Given the description of an element on the screen output the (x, y) to click on. 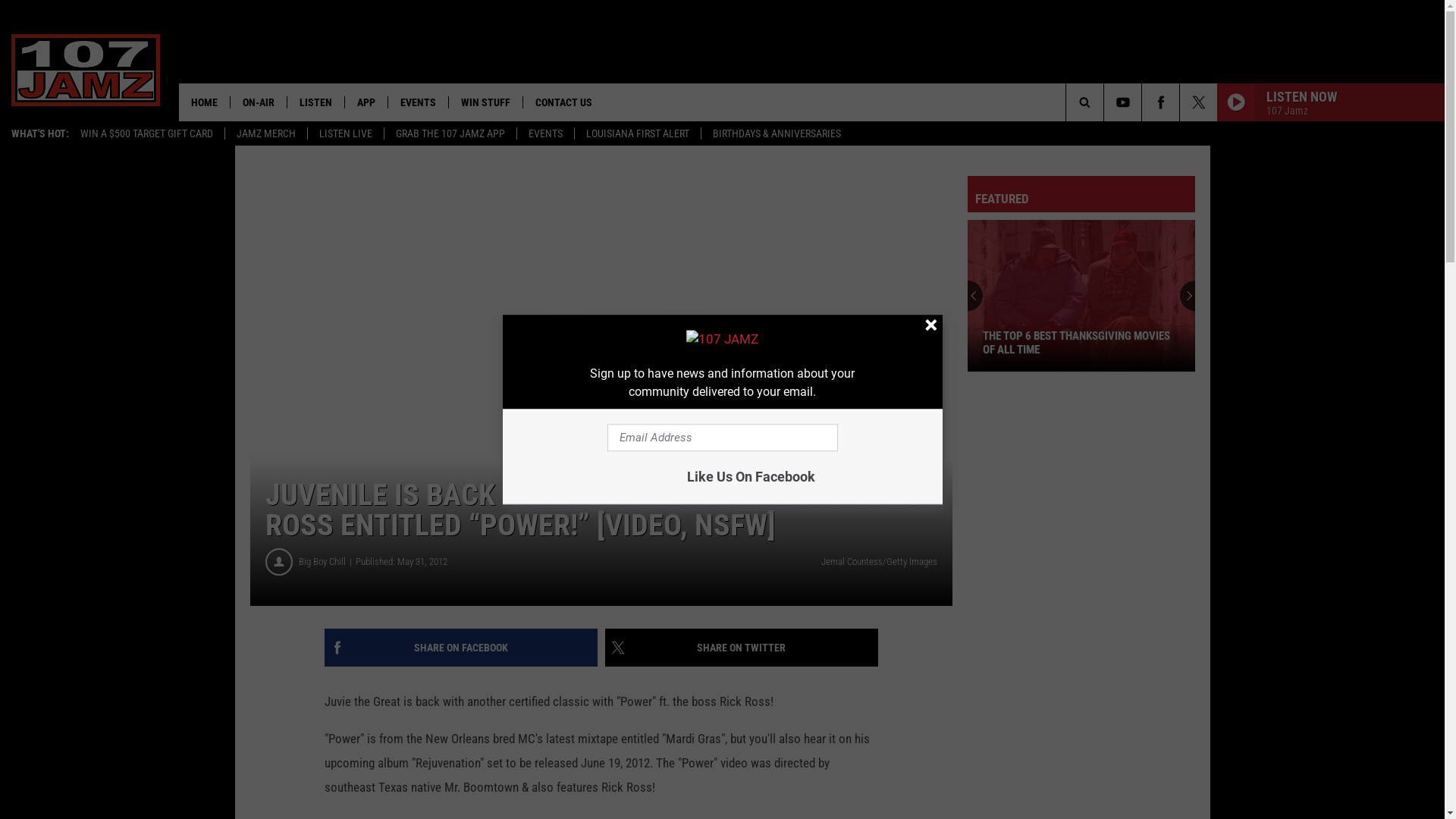
EVENTS Element type: text (545, 133)
APP Element type: text (365, 102)
LISTEN NOW
107 Jamz Element type: text (1330, 102)
CONTACT US Element type: text (563, 102)
LOUISIANA FIRST ALERT Element type: text (637, 133)
SHARE ON TWITTER Element type: text (741, 647)
Visit us on Twitter Element type: text (1198, 102)
HOME Element type: text (203, 102)
ON-AIR Element type: text (257, 102)
Close Element type: hover (930, 325)
SEARCH Element type: text (1108, 102)
SHARE ON FACEBOOK Element type: text (460, 647)
WIN STUFF Element type: text (485, 102)
Big Boy Chill Element type: text (326, 561)
Visit us on Youtube Element type: text (1122, 102)
BIRTHDAYS & ANNIVERSARIES Element type: text (776, 133)
EVENTS Element type: text (417, 102)
GRAB THE 107 JAMZ APP Element type: text (449, 133)
Visit us on Facebook Element type: text (1160, 102)
WIN A $500 TARGET GIFT CARD Element type: text (146, 133)
JAMZ MERCH Element type: text (265, 133)
LISTEN Element type: text (315, 102)
LISTEN LIVE Element type: text (345, 133)
